Given the description of an element on the screen output the (x, y) to click on. 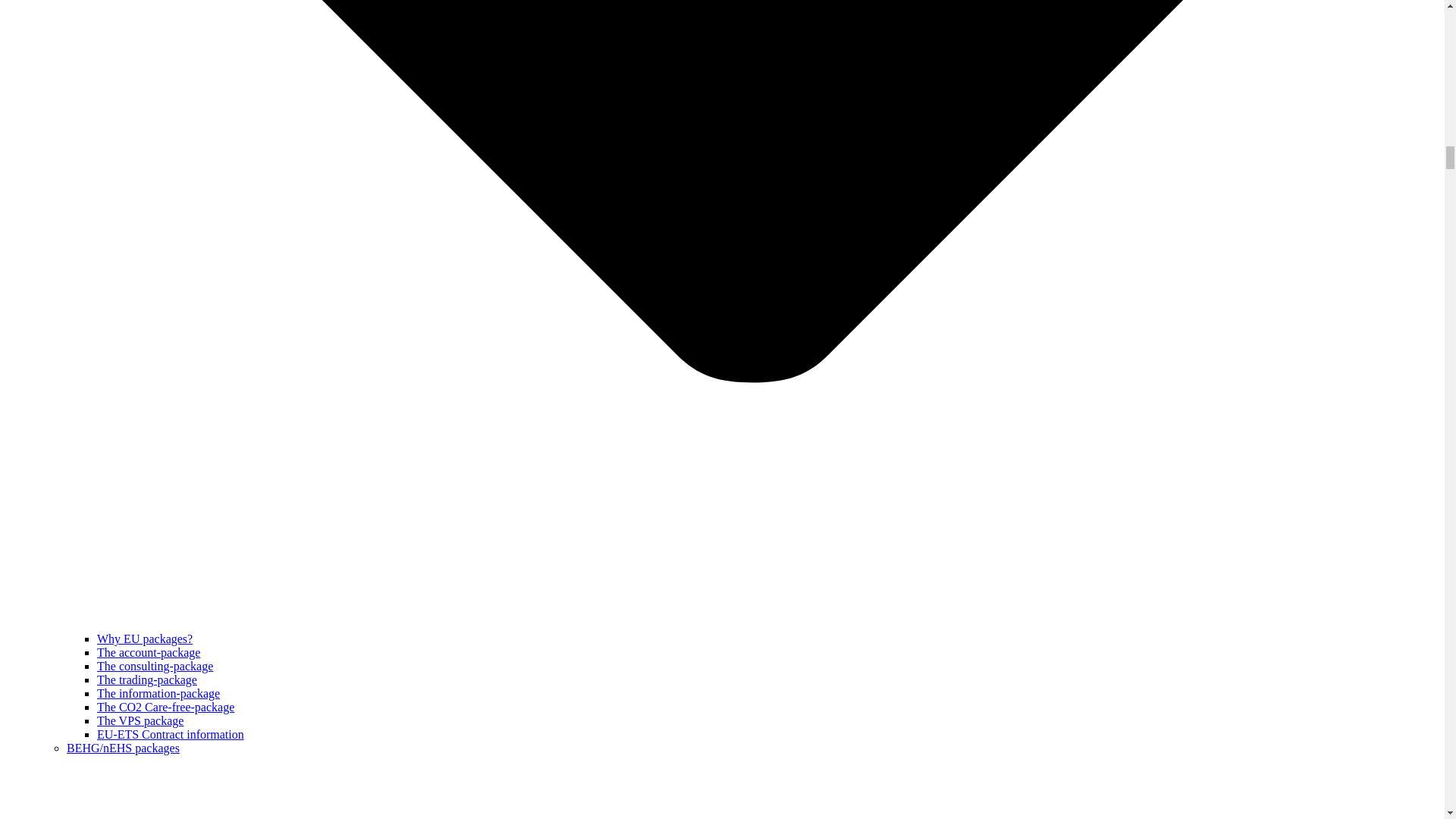
The account-package (148, 652)
The CO2 Care-free-package (165, 707)
The information-package (158, 693)
The consulting-package (154, 666)
The trading-package (146, 679)
EU-ETS Contract information (170, 734)
The VPS package (140, 720)
Why EU packages? (144, 638)
